Given the description of an element on the screen output the (x, y) to click on. 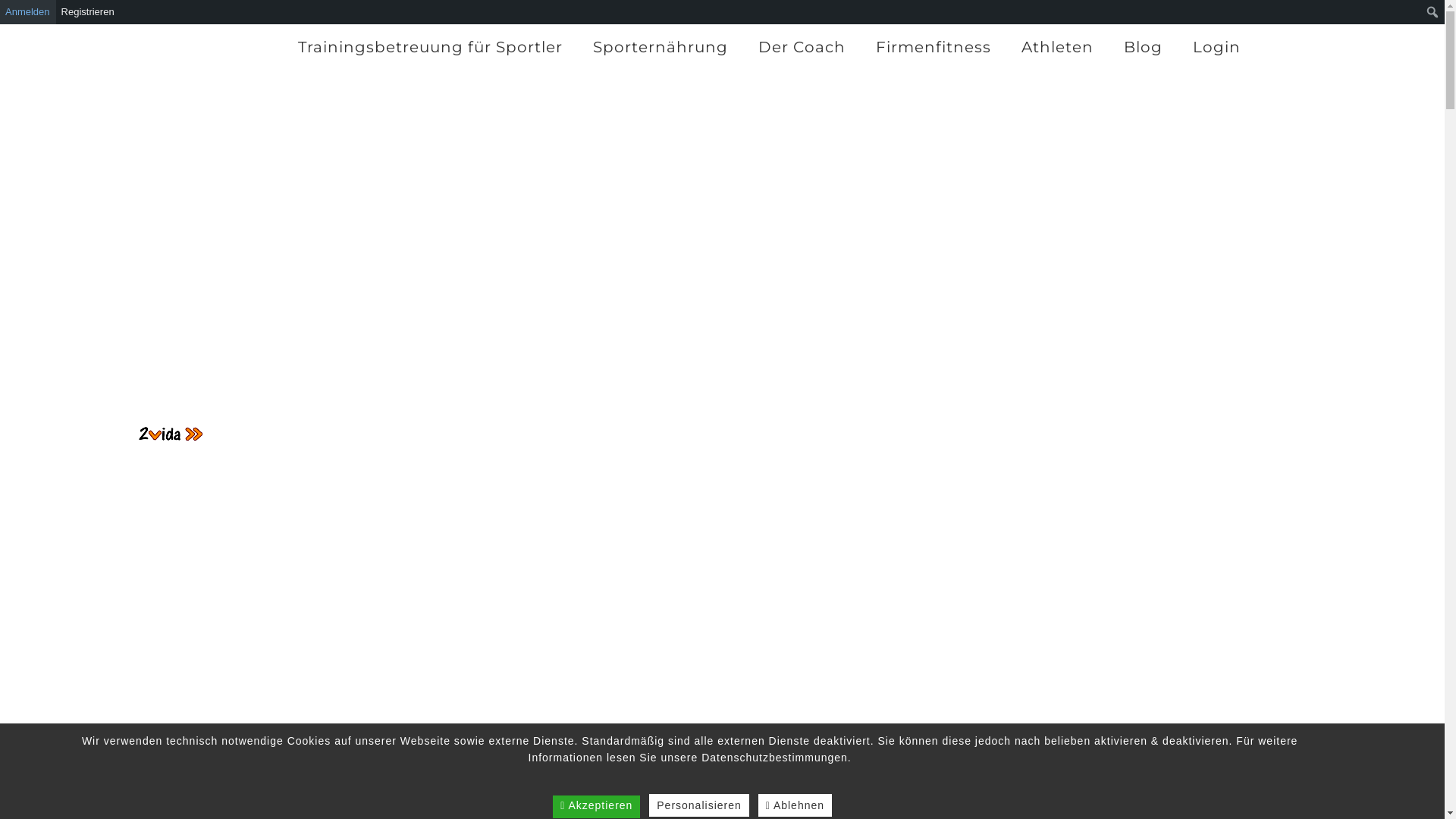
Firmenfitness Element type: text (933, 46)
Athleten Element type: text (1057, 46)
Suchen Element type: text (18, 13)
Anmelden Element type: text (28, 12)
Blog Element type: text (1142, 46)
Personalisieren Element type: text (699, 804)
Registrieren Element type: text (88, 12)
Der Coach Element type: text (801, 46)
Login Element type: text (1216, 46)
